Given the description of an element on the screen output the (x, y) to click on. 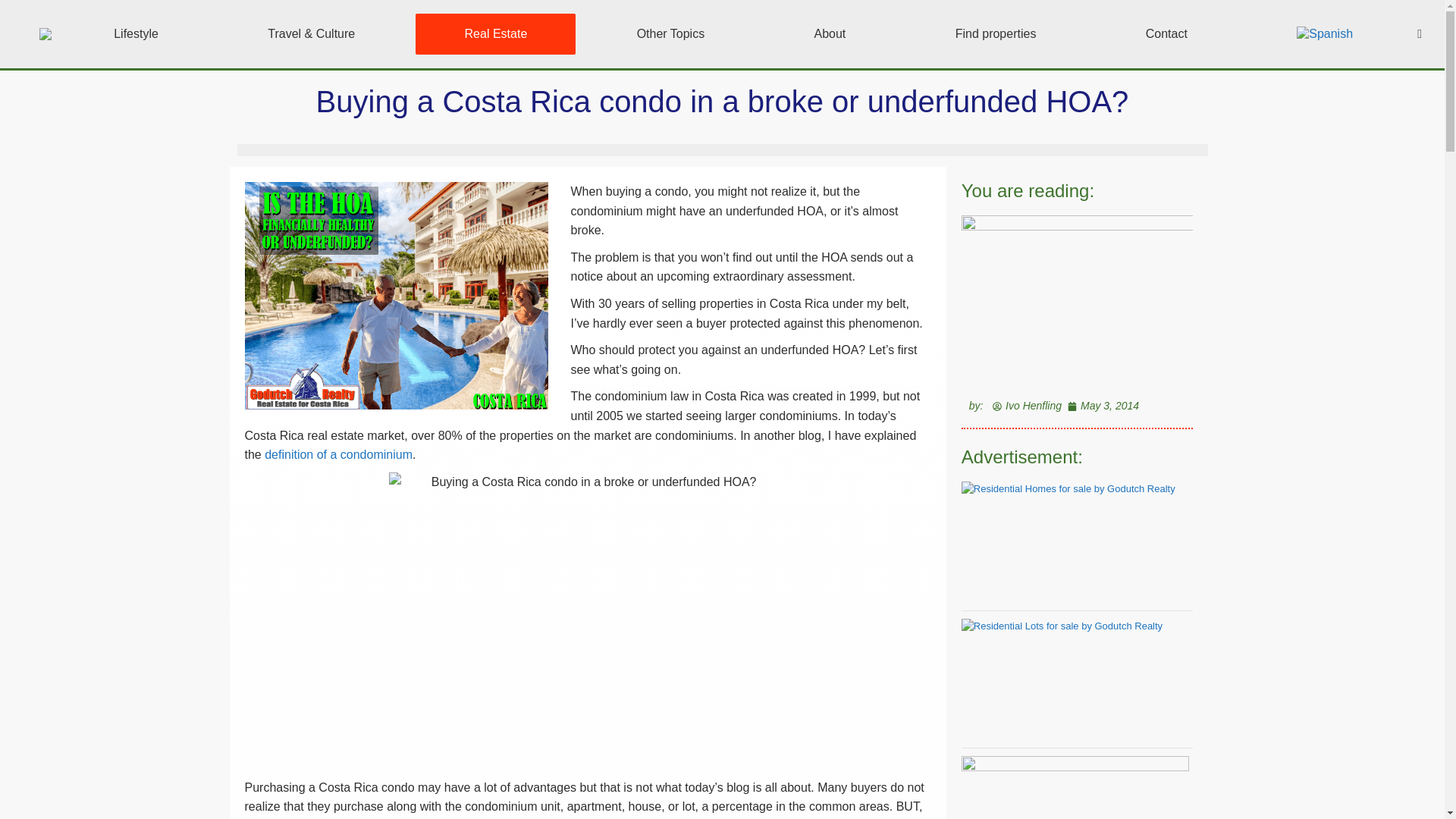
Find properties (994, 33)
Lifestyle (135, 33)
Other Topics (670, 33)
Costa Rica Lifestyle (135, 33)
Costa Rica Real Estate Info (494, 33)
Real Estate (494, 33)
About (829, 33)
